Given the description of an element on the screen output the (x, y) to click on. 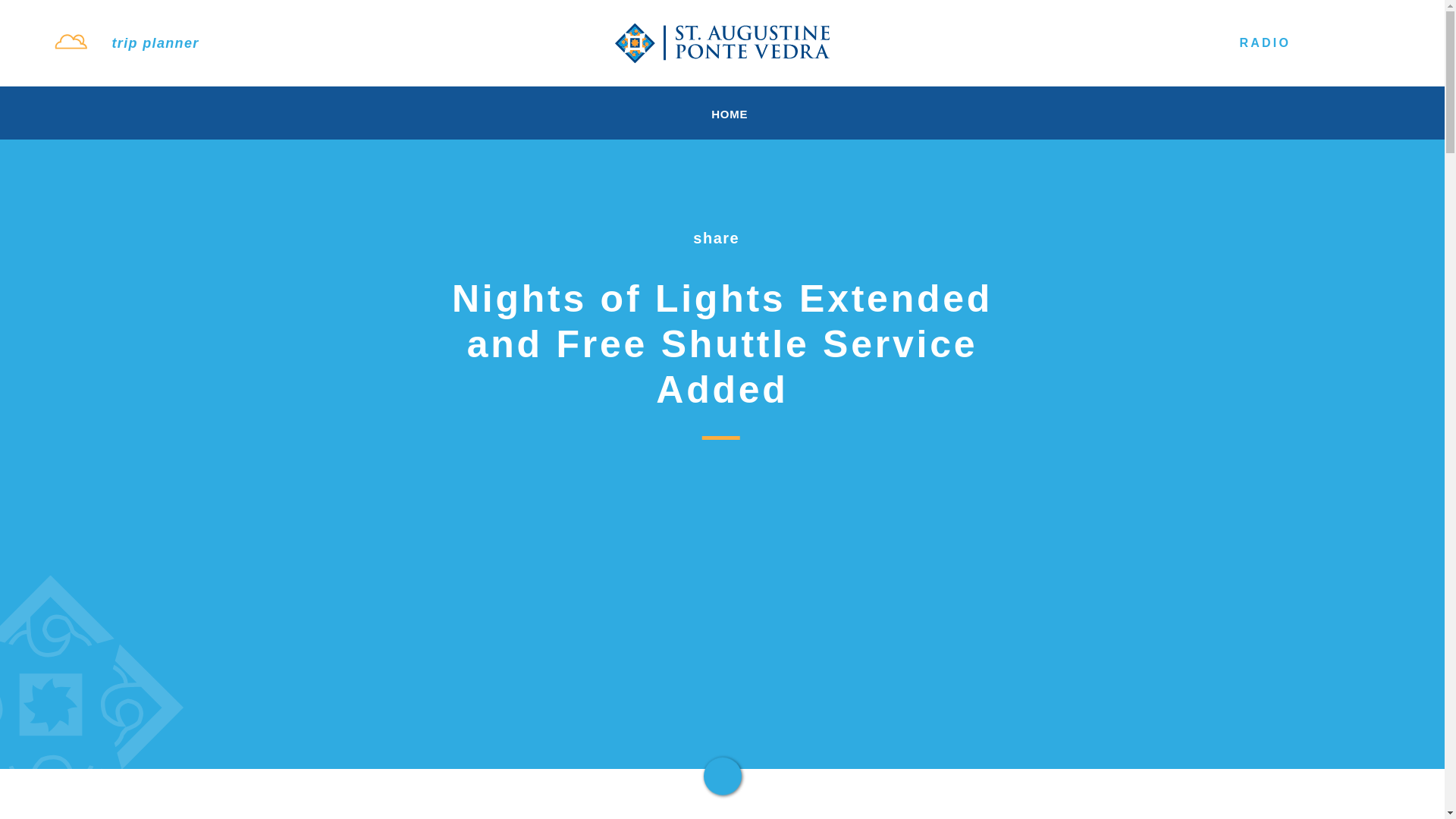
Skip to content (17, 15)
trip planner (155, 42)
RADIO (1249, 42)
HOME (725, 113)
share (722, 237)
